Given the description of an element on the screen output the (x, y) to click on. 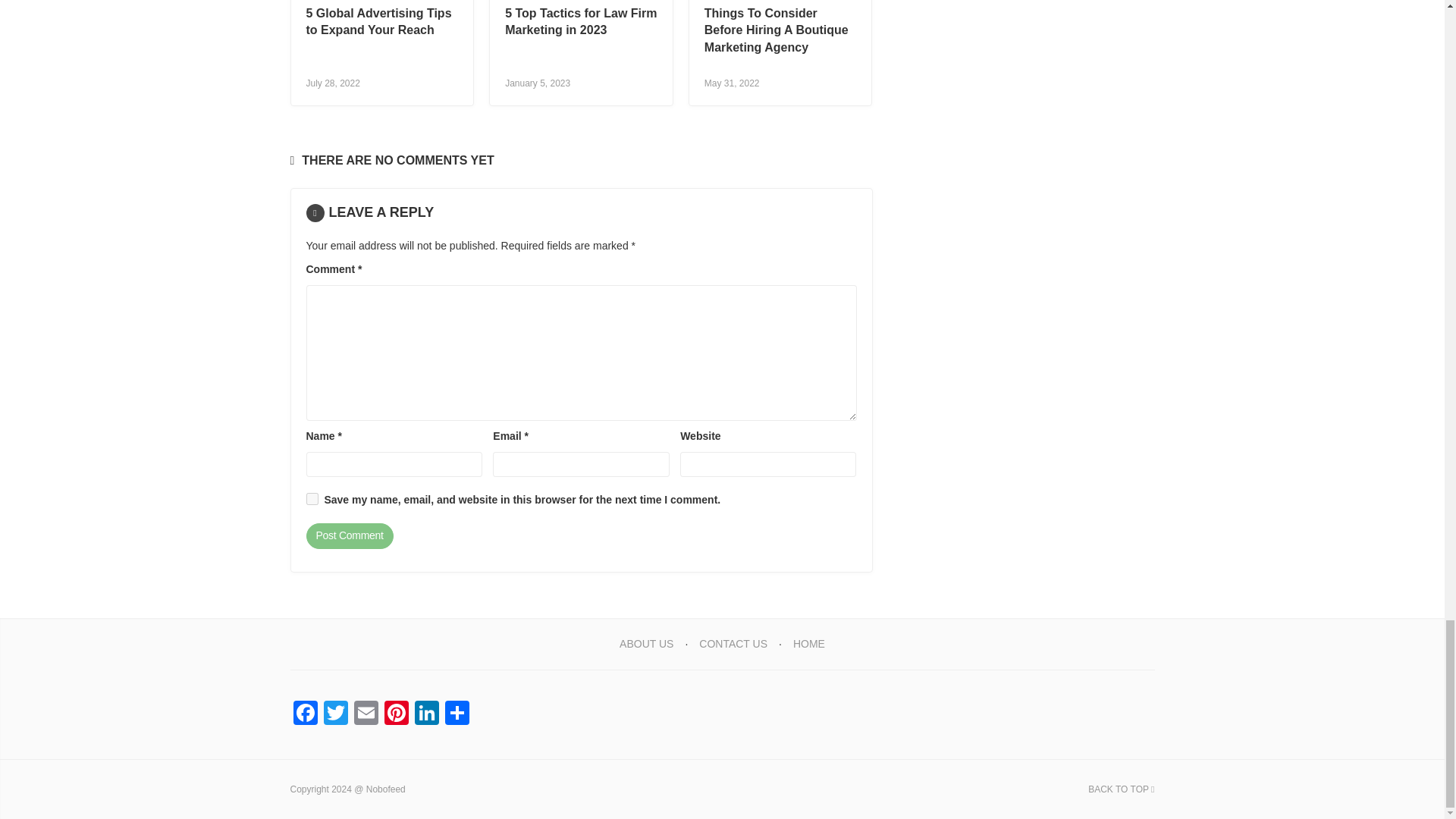
BACK TO TOP  (1120, 789)
yes (311, 499)
Post Comment (349, 535)
